Given the description of an element on the screen output the (x, y) to click on. 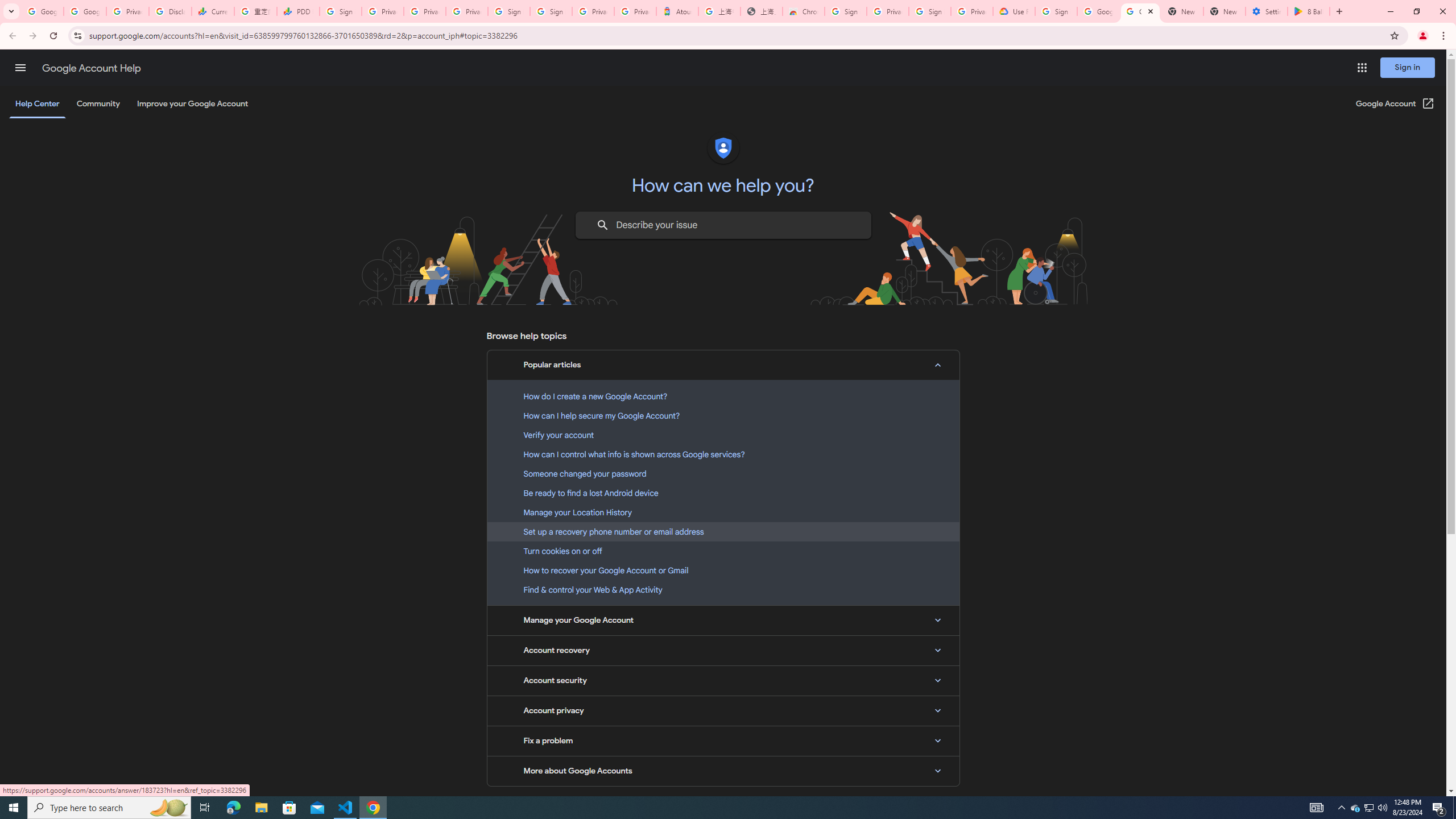
Someone changed your password (722, 473)
Sign in - Google Accounts (550, 11)
Be ready to find a lost Android device (722, 492)
PDD Holdings Inc - ADR (PDD) Price & News - Google Finance (298, 11)
Sign in - Google Accounts (930, 11)
How can I control what info is shown across Google services? (722, 454)
How can I help secure my Google Account? (722, 415)
Google Account Help (1139, 11)
Verify your account (722, 434)
